Given the description of an element on the screen output the (x, y) to click on. 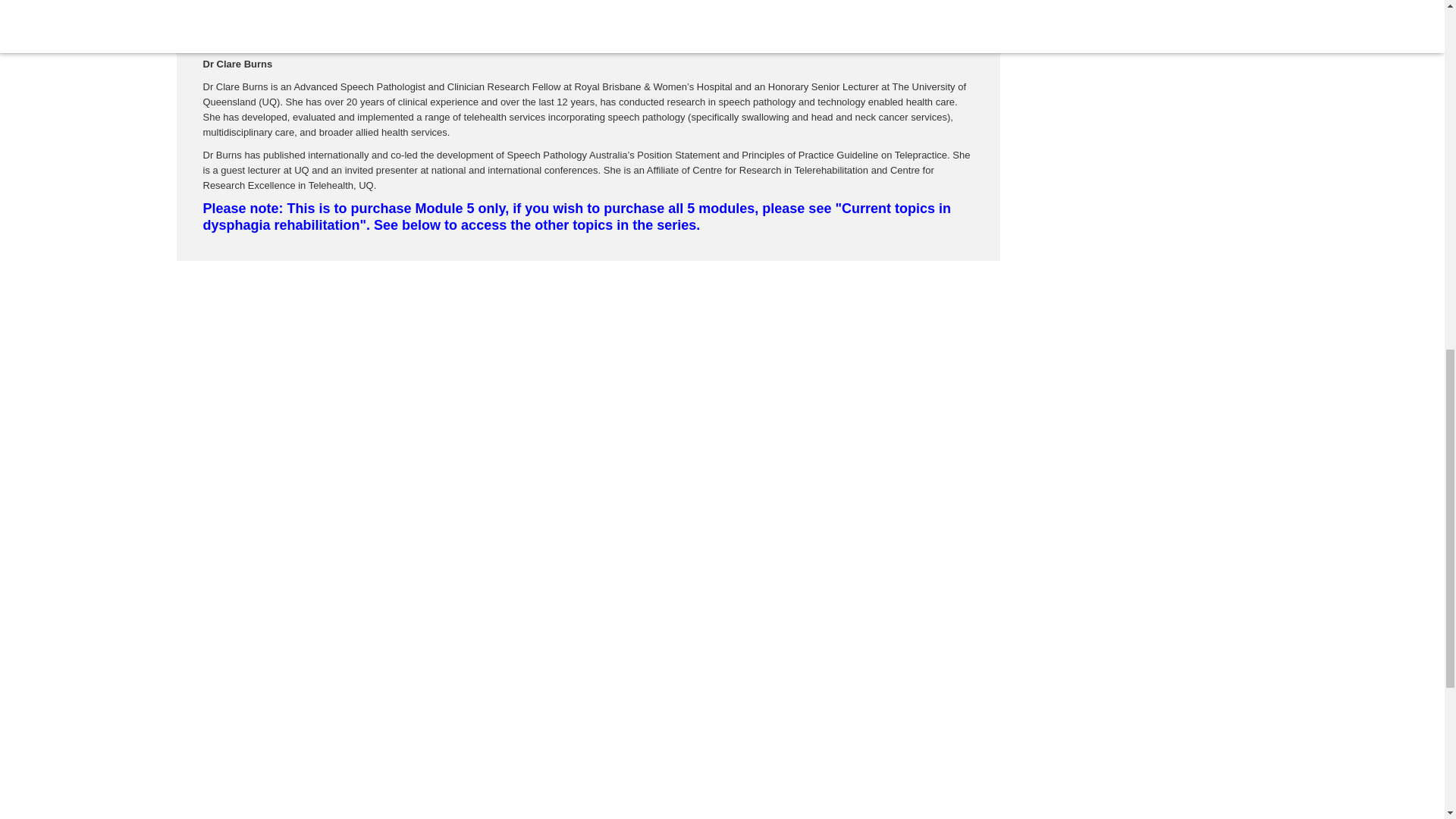
Current topics in dysphagia rehabilitation (576, 216)
